Given the description of an element on the screen output the (x, y) to click on. 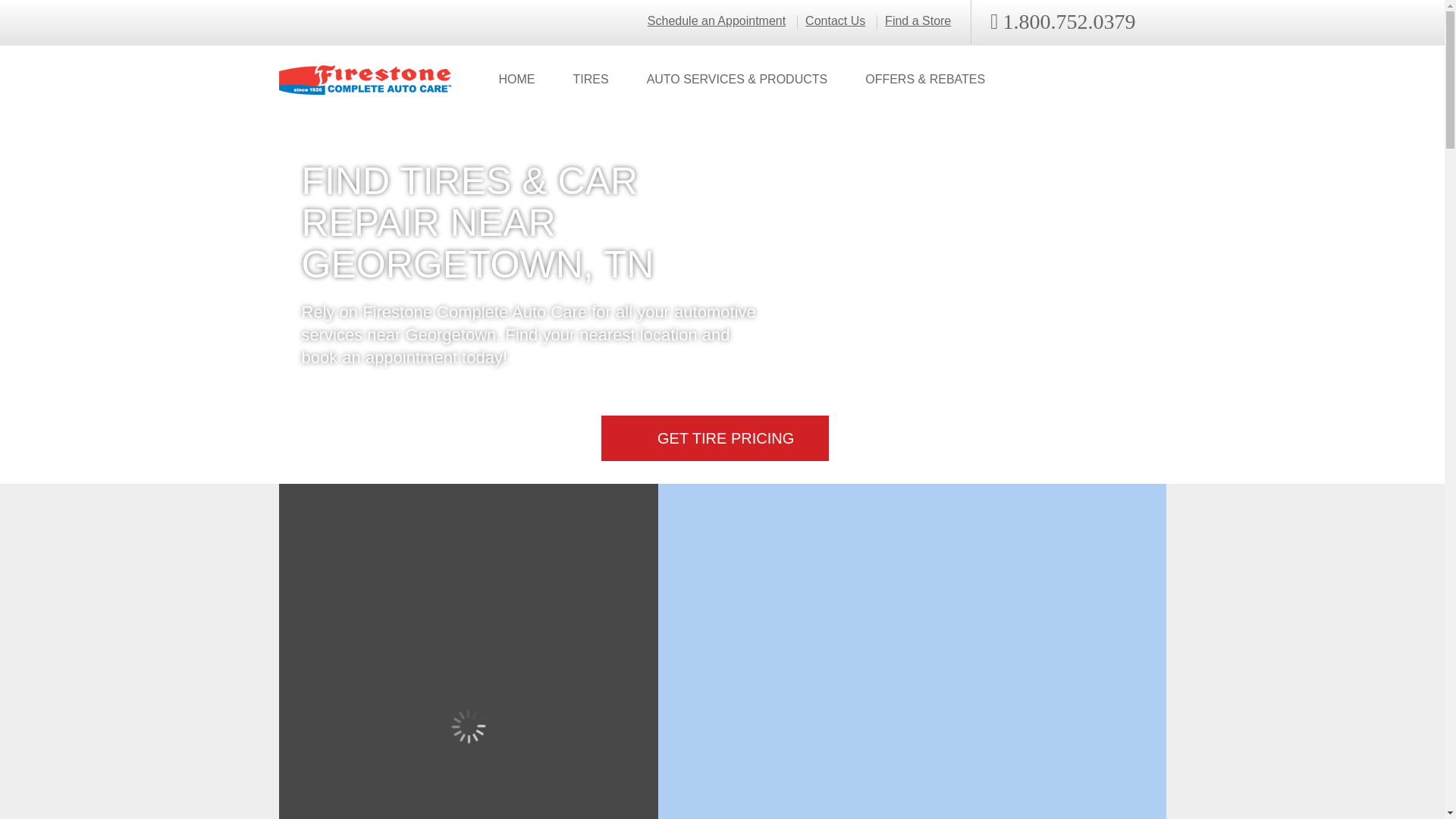
1.800.752.0379 (1062, 22)
GET TIRE PRICING (713, 438)
Find a Store (918, 20)
Schedule an Appointment (716, 20)
Firestone Complete Auto Care (365, 80)
HOME (516, 79)
TIRES (590, 79)
Contact Us (834, 20)
